Given the description of an element on the screen output the (x, y) to click on. 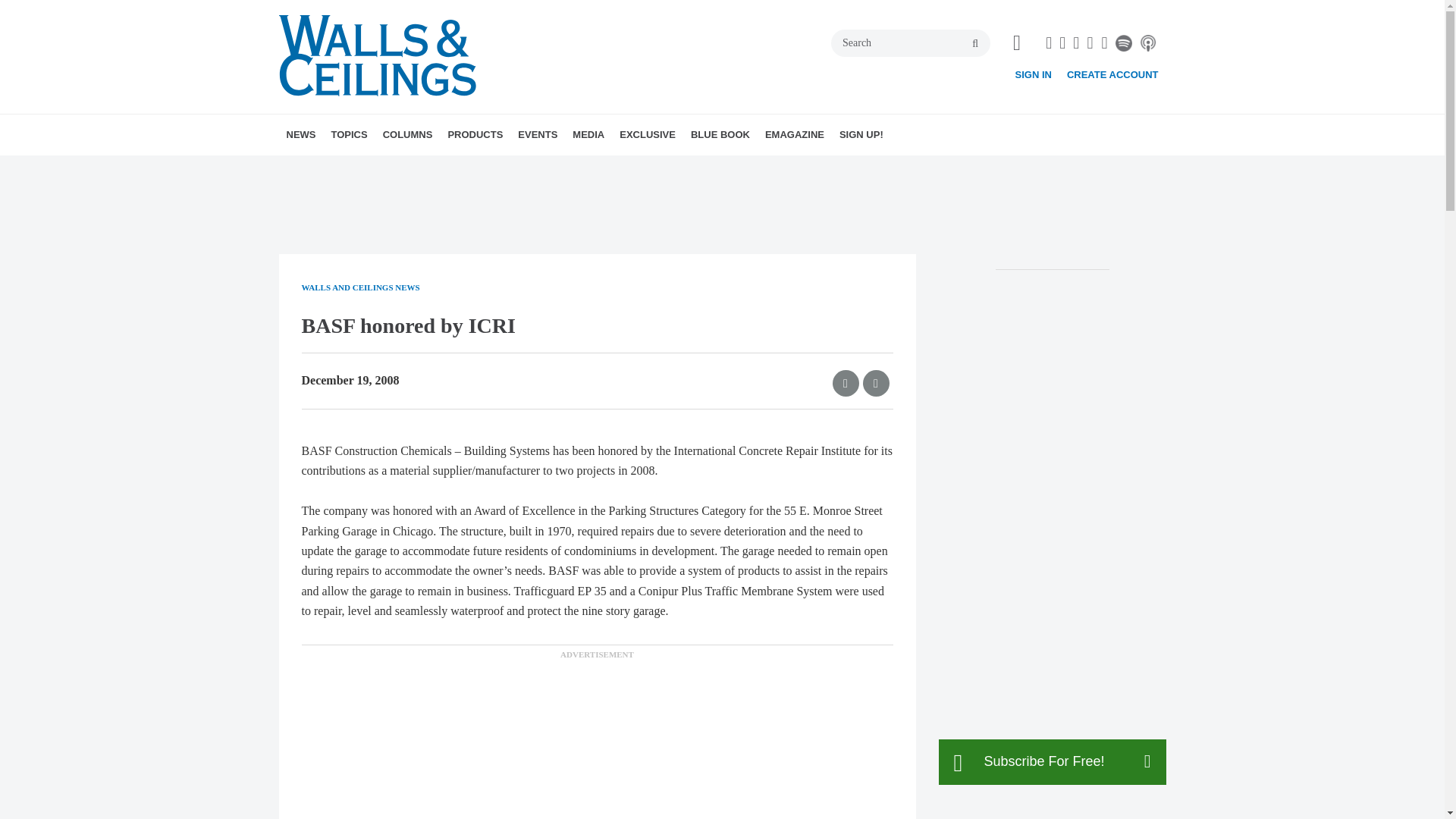
TOOLS AND SOFTWARE (457, 167)
WOMEN IN CONSTRUCTION (464, 167)
ALL THINGS GYPSUM (469, 167)
EXTERIOR (462, 167)
DRYWALL (417, 167)
linkedin (1075, 43)
cart (1016, 43)
SIGN IN (1032, 74)
twitter (1062, 43)
STUCCO STOP (488, 167)
NEWS (301, 134)
CREATE ACCOUNT (1112, 74)
METAL FRAMING (436, 167)
facebook (1048, 43)
INTERIOR (459, 167)
